Given the description of an element on the screen output the (x, y) to click on. 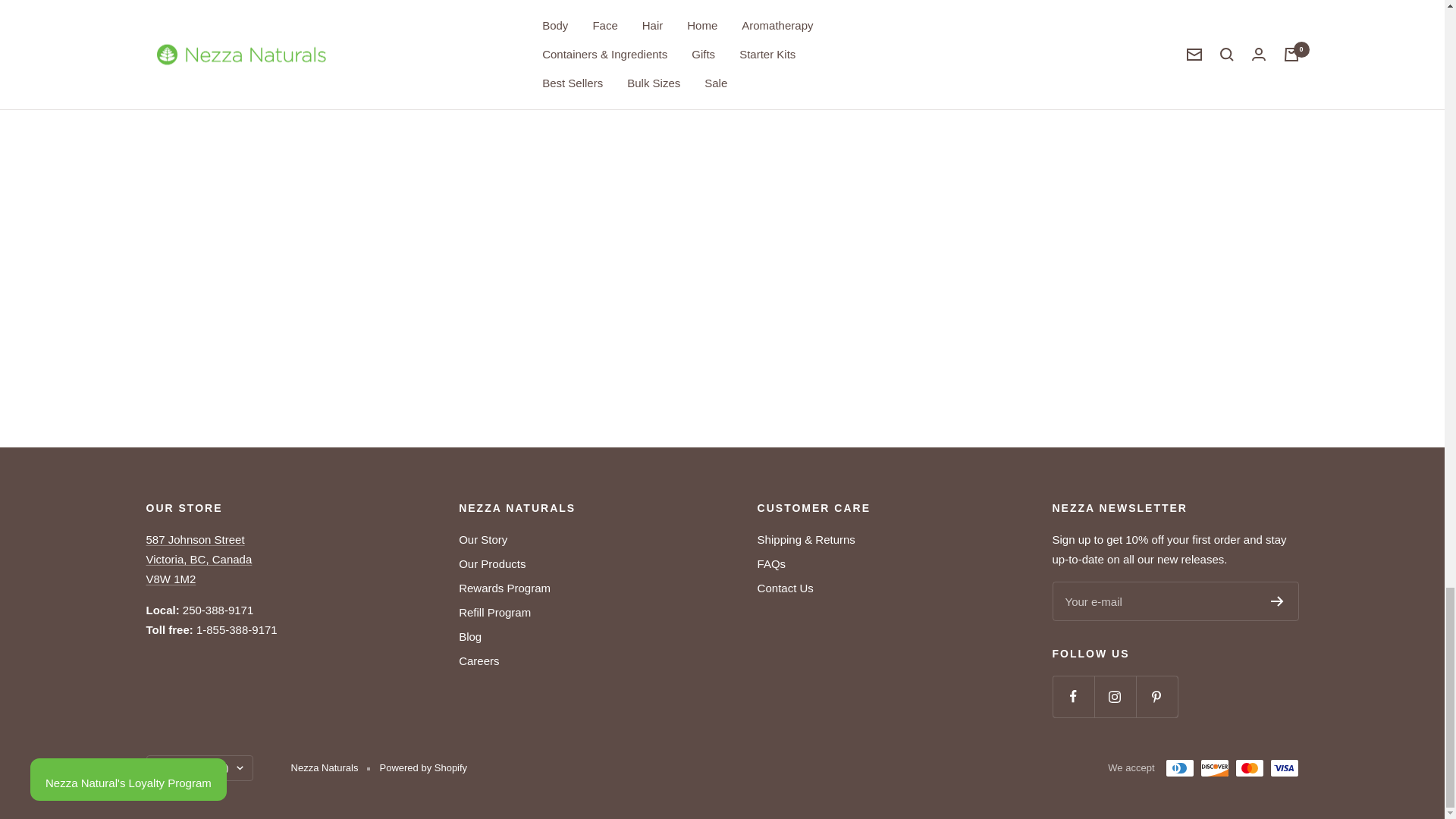
Register (1277, 601)
